Given the description of an element on the screen output the (x, y) to click on. 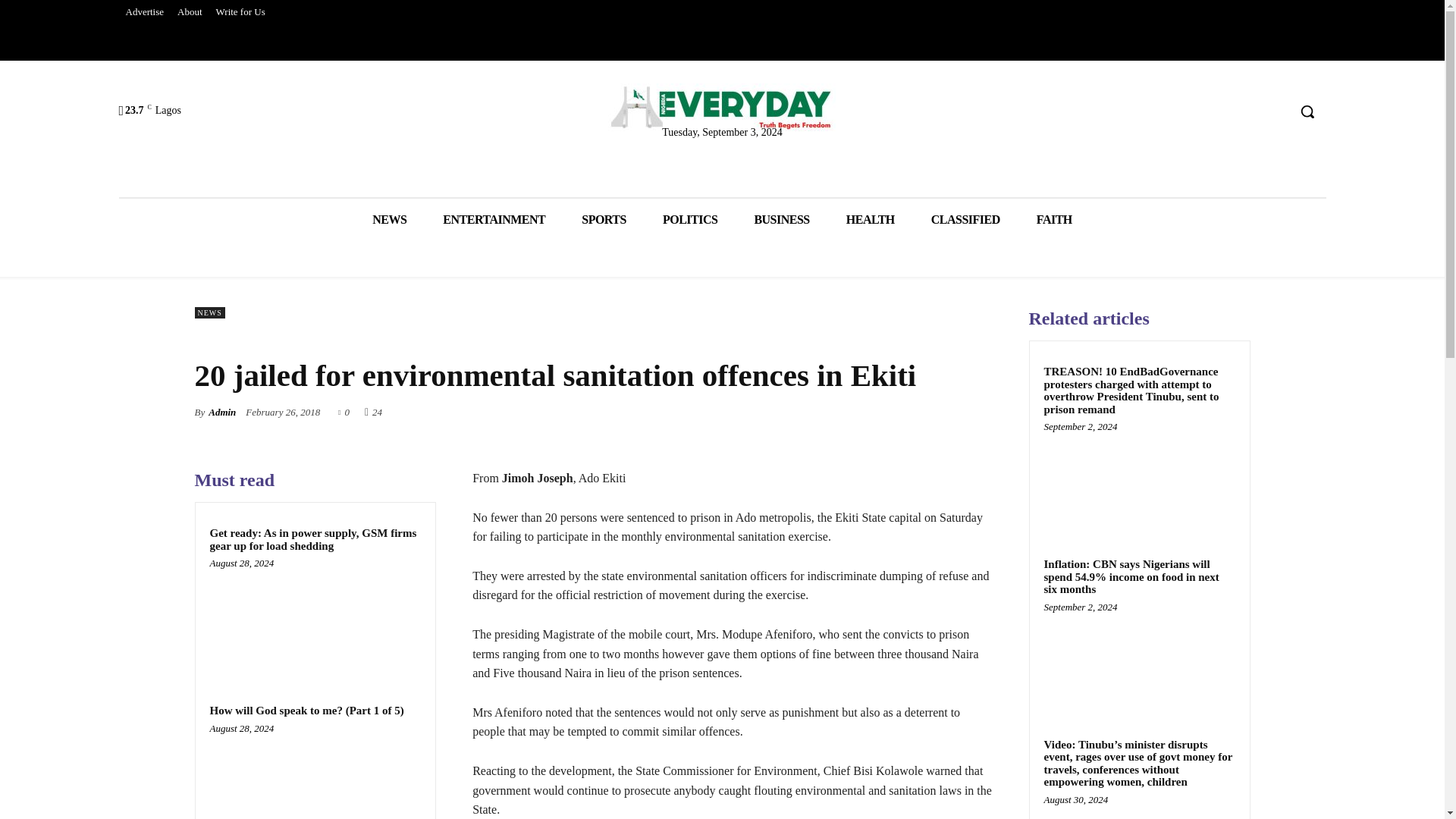
About (189, 12)
CLASSIFIED (964, 219)
BUSINESS (781, 219)
SPORTS (604, 219)
NEWS (208, 312)
HEALTH (870, 219)
FAITH (1053, 219)
Advertise (143, 12)
